Given the description of an element on the screen output the (x, y) to click on. 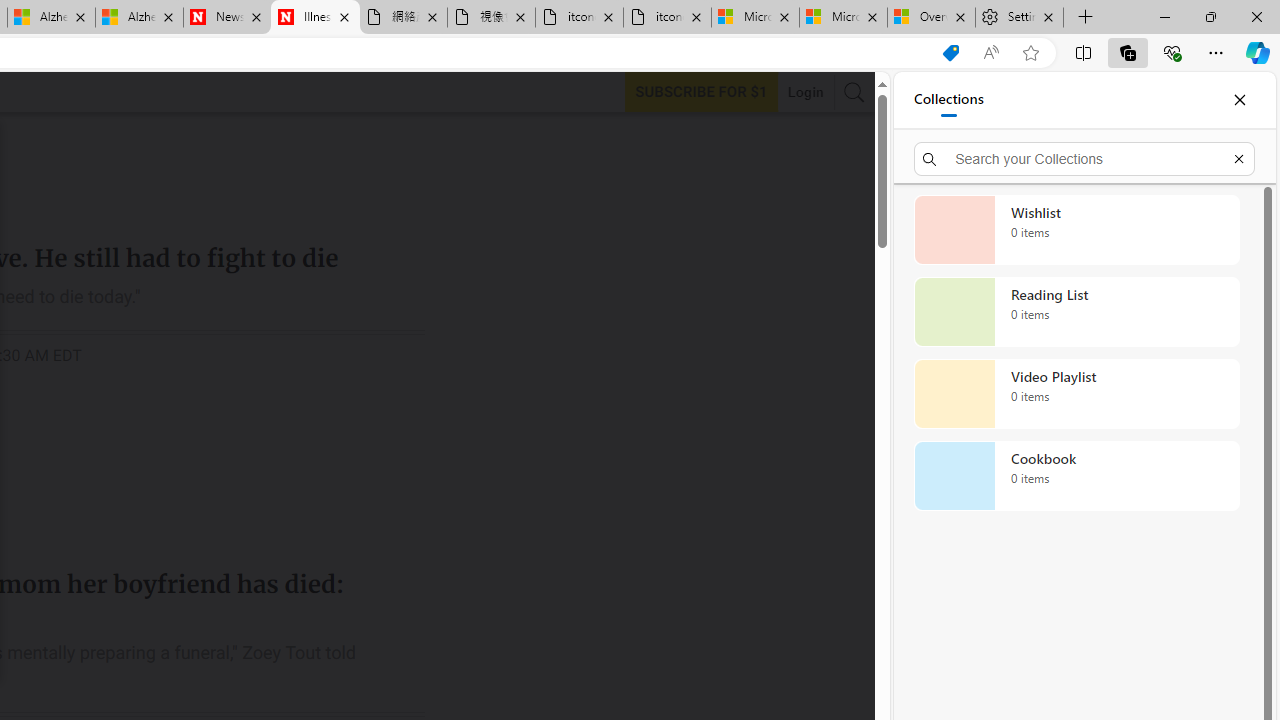
Video Playlist collection, 0 items (1076, 394)
Read aloud this page (Ctrl+Shift+U) (991, 53)
Newsweek - News, Analysis, Politics, Business, Technology (227, 17)
Microsoft account | Privacy (843, 17)
Reading List collection, 0 items (1076, 312)
Settings (1019, 17)
Shopping in Microsoft Edge (950, 53)
Subscribe to our service (701, 91)
Overview (931, 17)
Close (1239, 99)
Collections (1128, 52)
Browser essentials (1171, 52)
Wishlist collection, 0 items (1076, 229)
New Tab (1085, 17)
Restore (1210, 16)
